Given the description of an element on the screen output the (x, y) to click on. 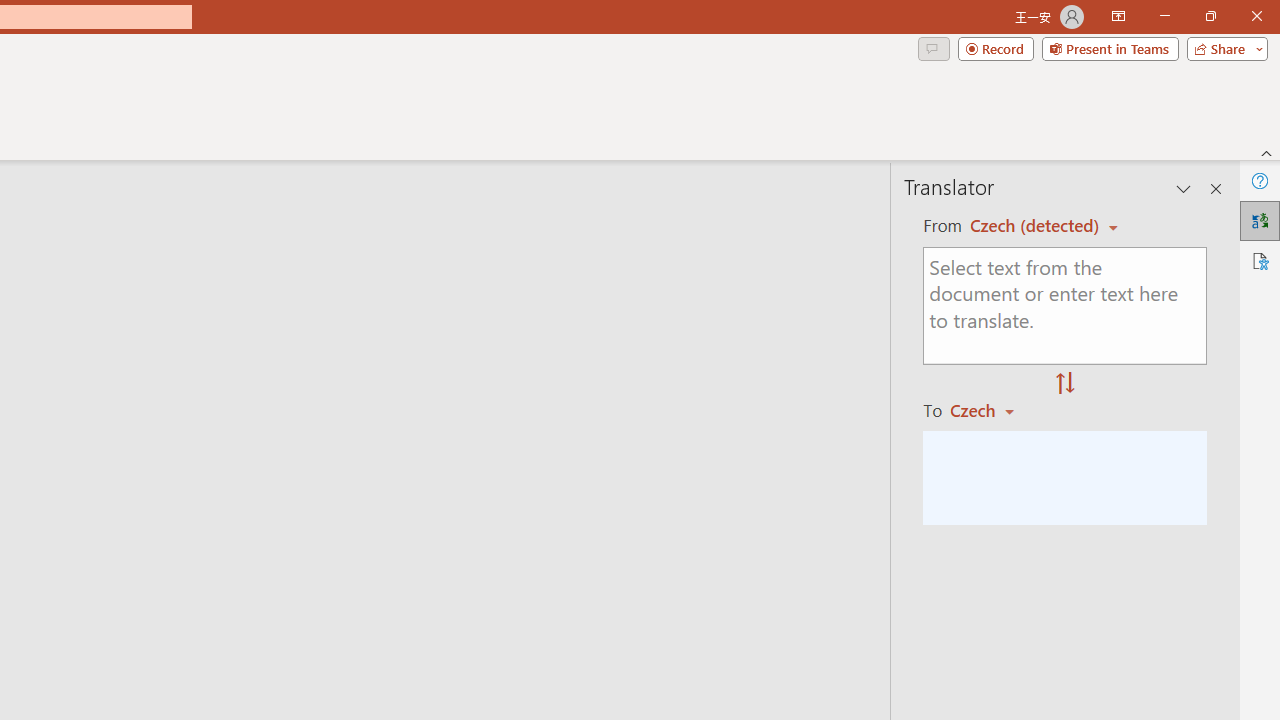
Czech (detected) (1037, 225)
Czech (991, 409)
